Given the description of an element on the screen output the (x, y) to click on. 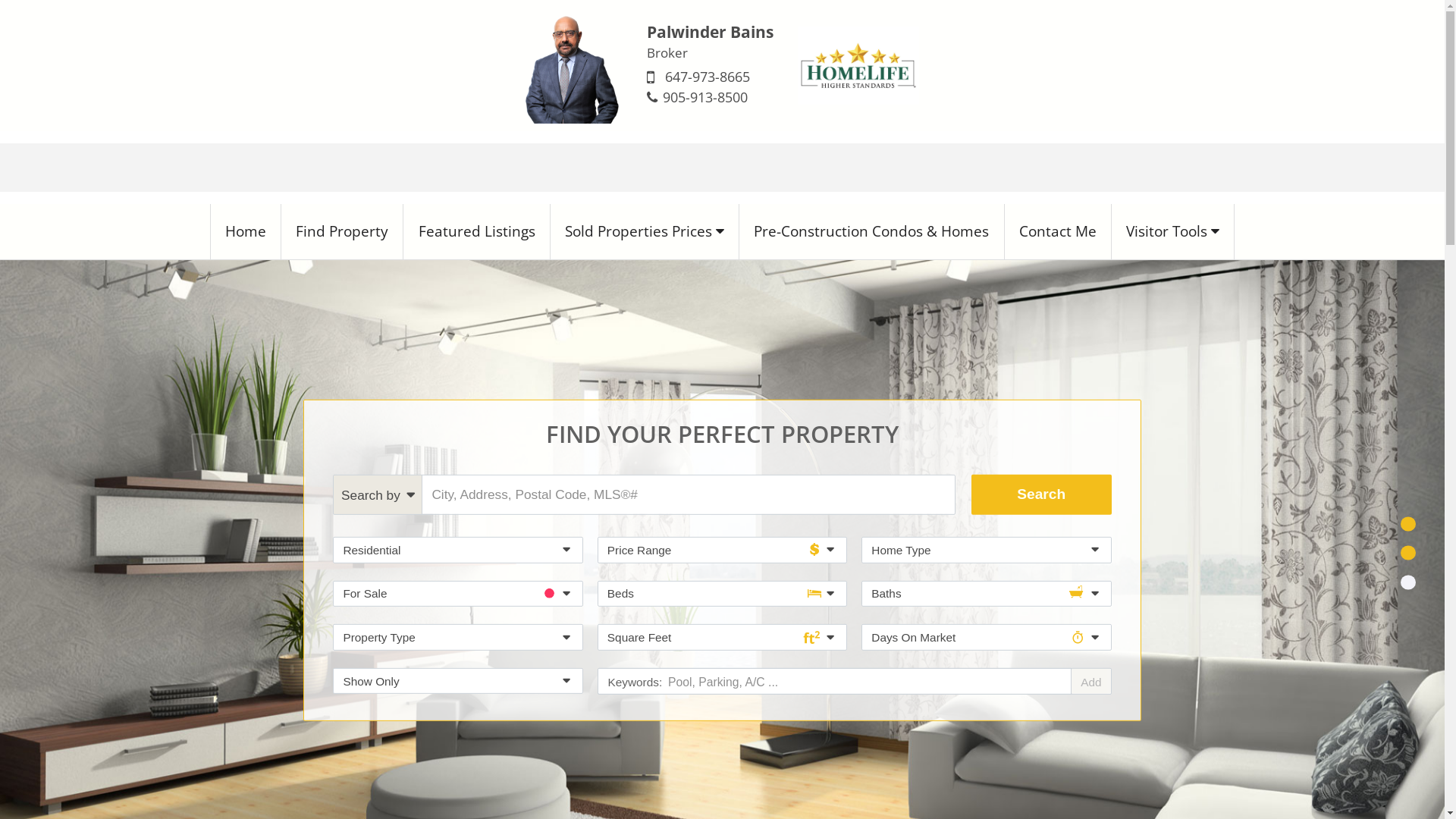
Property Type Element type: text (457, 637)
Baths Element type: text (985, 593)
1 Element type: text (1407, 523)
Price Range Element type: text (722, 549)
Pre-Construction Condos & Homes Element type: text (871, 231)
Visitor Tools Element type: text (1172, 231)
647-973-8665 Element type: text (707, 76)
Days On Market Element type: text (985, 637)
Contact Me Element type: text (1057, 231)
Home Element type: text (245, 231)
Sold Properties Prices Element type: text (644, 231)
2 Element type: text (1407, 553)
Residential Element type: text (457, 549)
Add Element type: text (1090, 681)
Home Type Element type: text (985, 549)
3 Element type: text (1407, 581)
Square Feet Element type: text (722, 637)
Search by Element type: text (377, 494)
Beds Element type: text (722, 593)
905-913-8500 Element type: text (704, 96)
Search Element type: text (1041, 494)
Find Property Element type: text (342, 231)
For Sale Element type: text (457, 593)
Show Only Element type: text (457, 681)
Featured Listings Element type: text (476, 231)
